Given the description of an element on the screen output the (x, y) to click on. 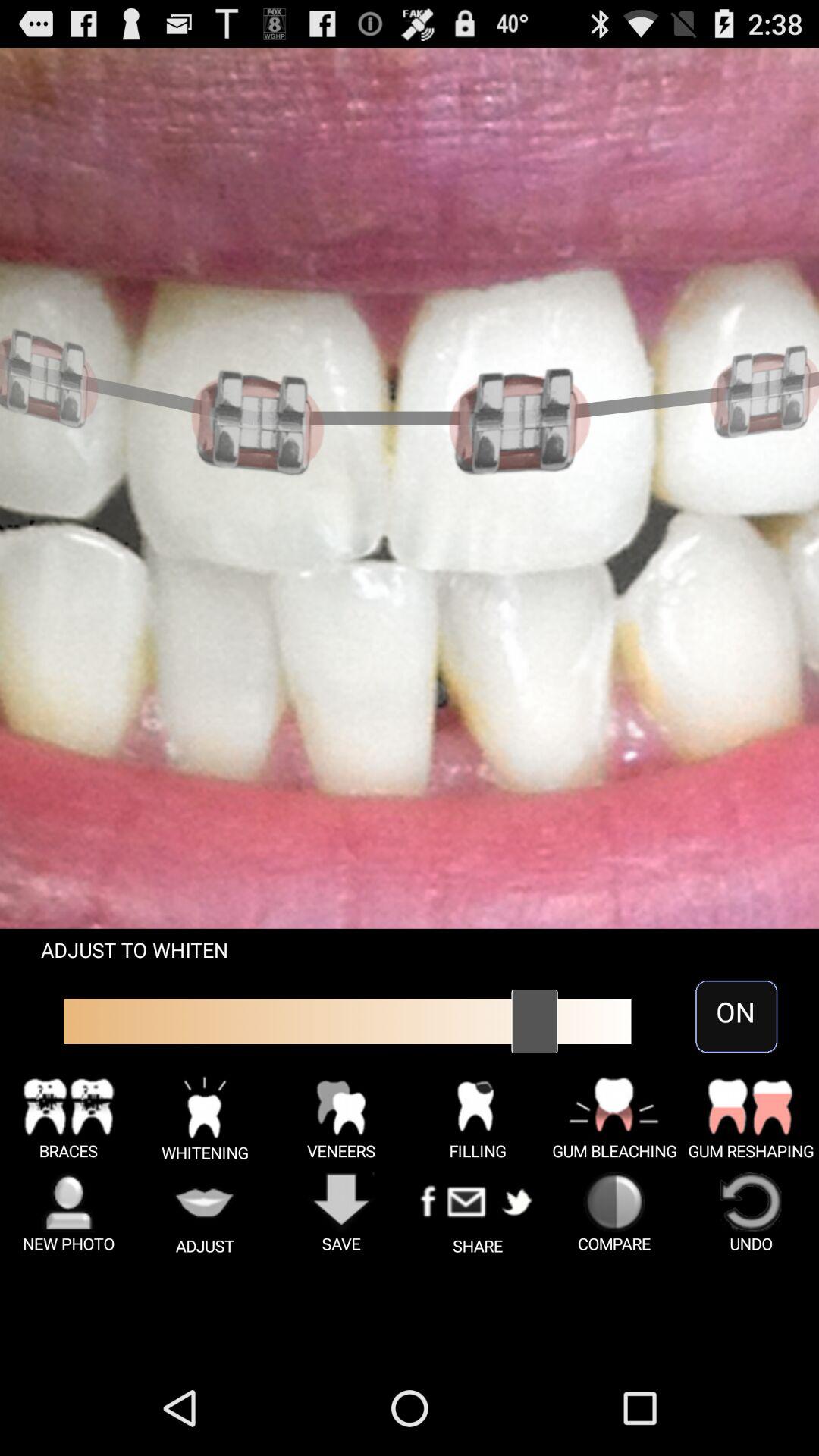
choose the on (736, 1016)
